Given the description of an element on the screen output the (x, y) to click on. 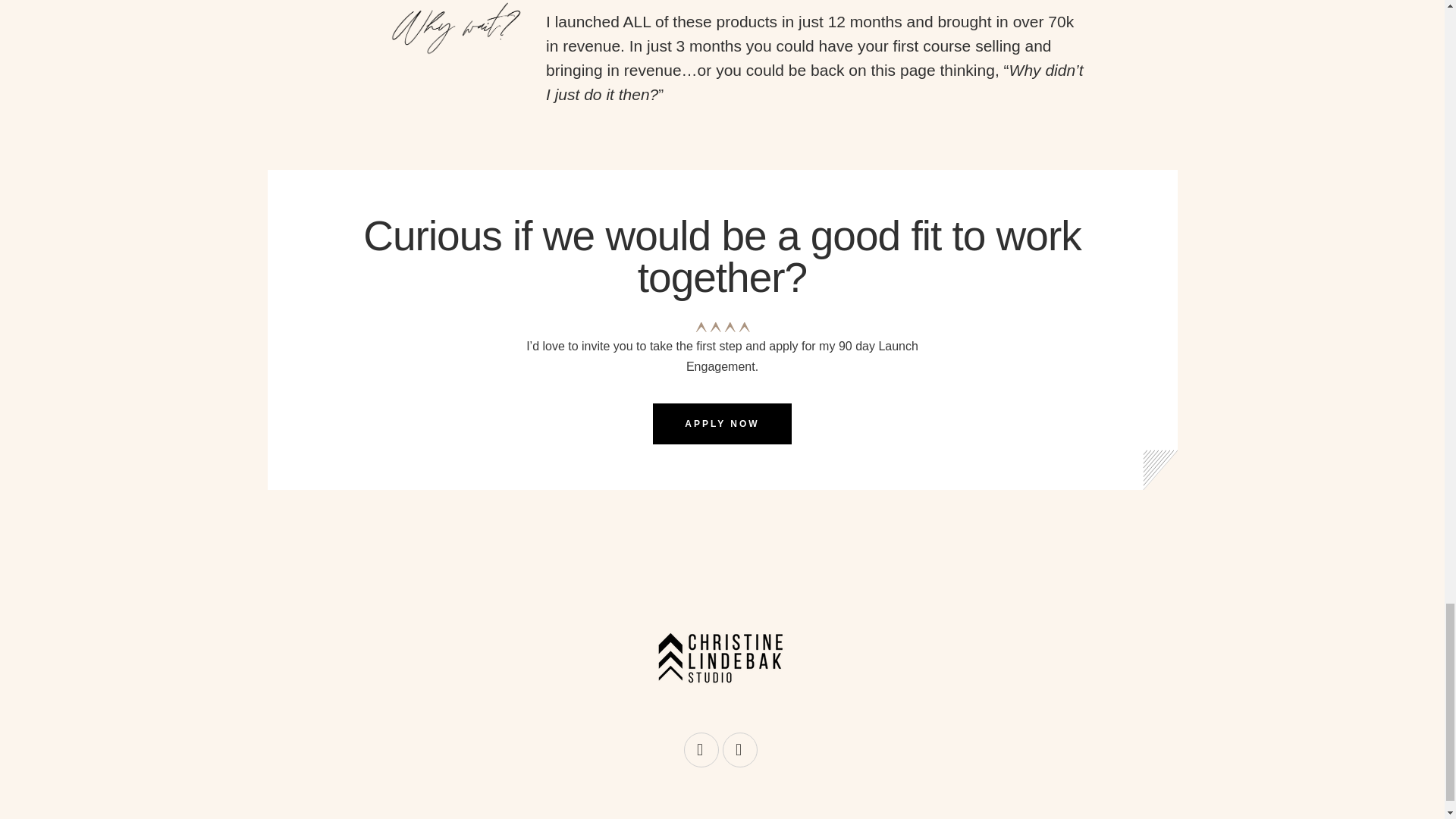
APPLY NOW (721, 423)
